Given the description of an element on the screen output the (x, y) to click on. 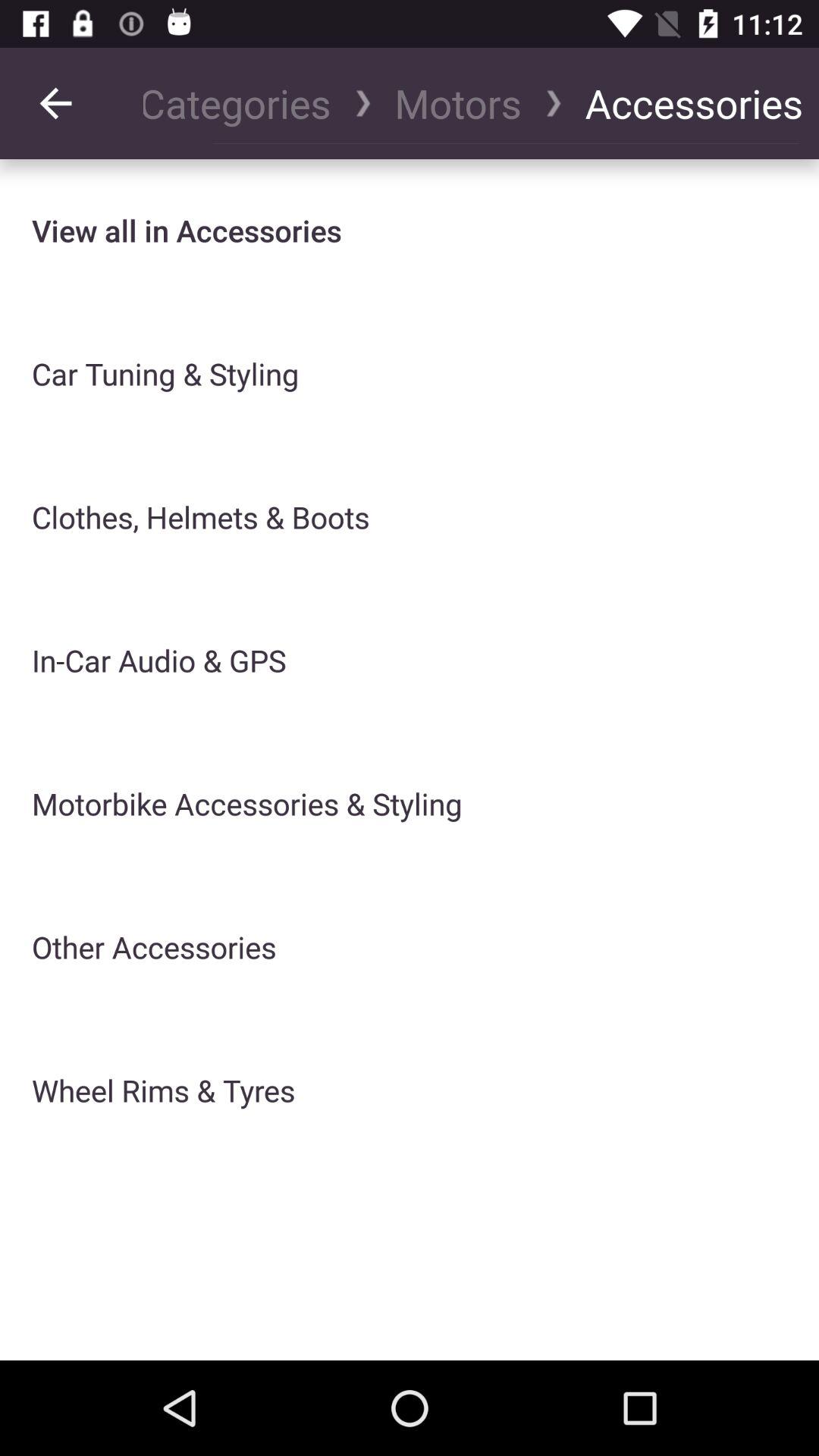
turn off the icon to the left of all categories item (55, 103)
